Given the description of an element on the screen output the (x, y) to click on. 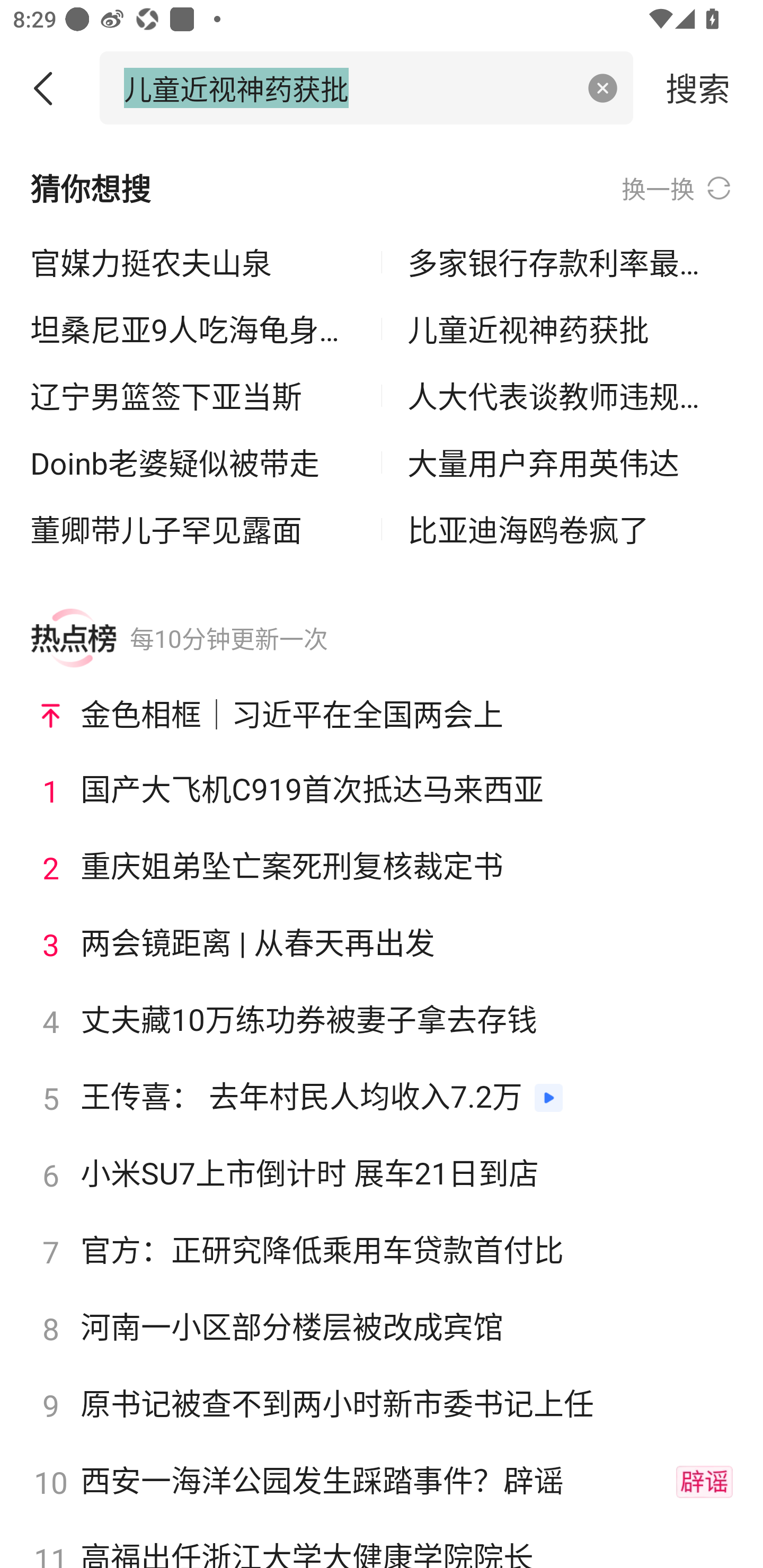
返回 (49, 87)
搜索 (698, 87)
儿童近视神药获批 (347, 87)
清空 (602, 88)
换一换 (676, 187)
官媒力挺农夫山泉 (193, 262)
多家银行存款利率最高达10% (569, 262)
坦桑尼亚9人吃海龟身亡 (193, 329)
儿童近视神药获批 (569, 329)
辽宁男篮签下亚当斯 (193, 395)
人大代表谈教师违规补课言行失当 (569, 395)
Doinb老婆疑似被带走 (193, 462)
大量用户弃用英伟达 (569, 462)
董卿带儿子罕见露面 (193, 528)
比亚迪海鸥卷疯了 (569, 528)
